Given the description of an element on the screen output the (x, y) to click on. 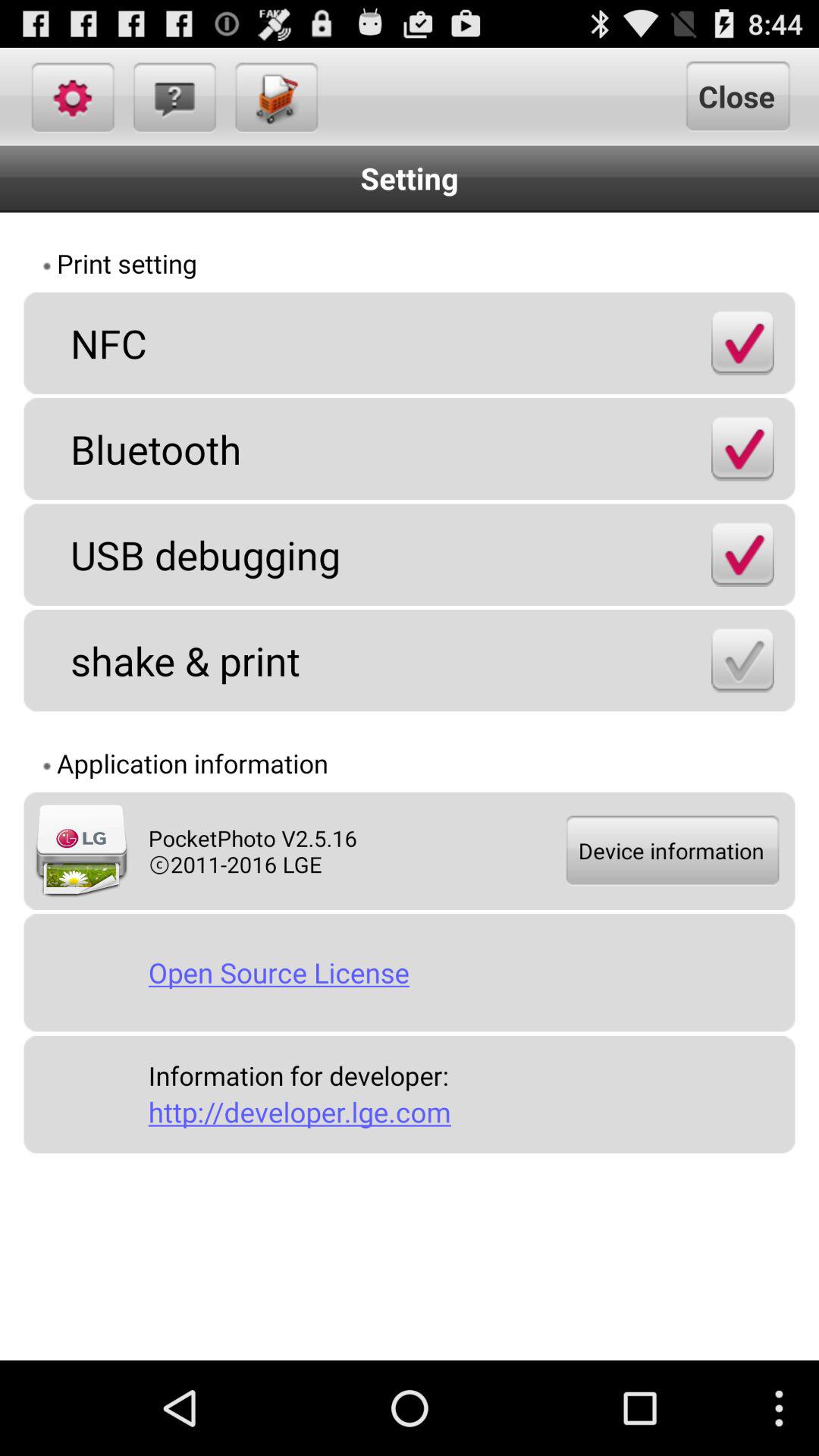
toggle shake print (742, 659)
